Given the description of an element on the screen output the (x, y) to click on. 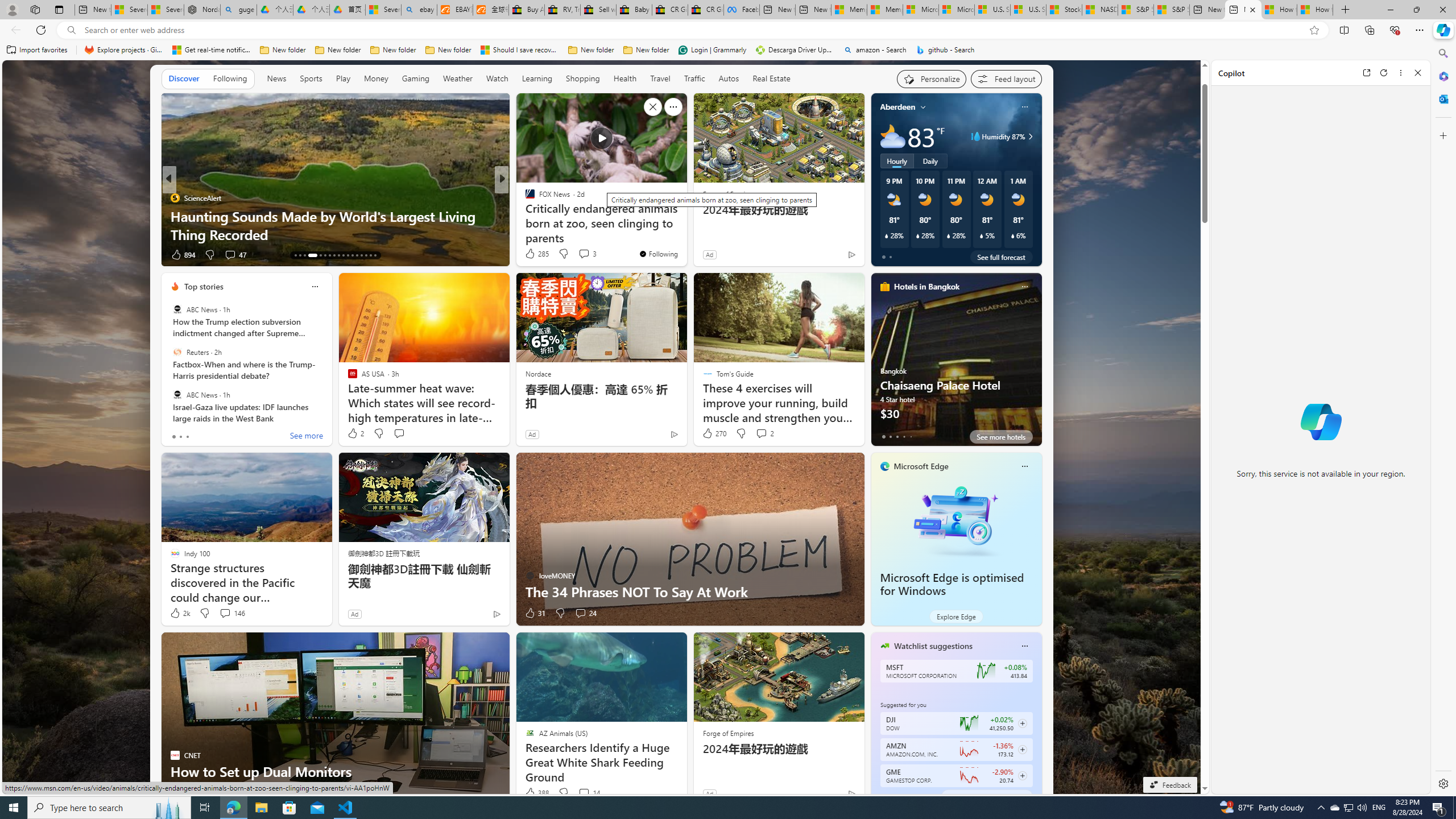
AutomationID: tab-25 (356, 255)
Hotels in Bangkok (926, 286)
More options (1401, 72)
Microsoft Edge (921, 466)
TechRadar (524, 197)
Play (342, 78)
Travel (660, 79)
View comments 2 Comment (761, 432)
Outlook (1442, 98)
ABC News (176, 394)
Hourly (896, 160)
